Given the description of an element on the screen output the (x, y) to click on. 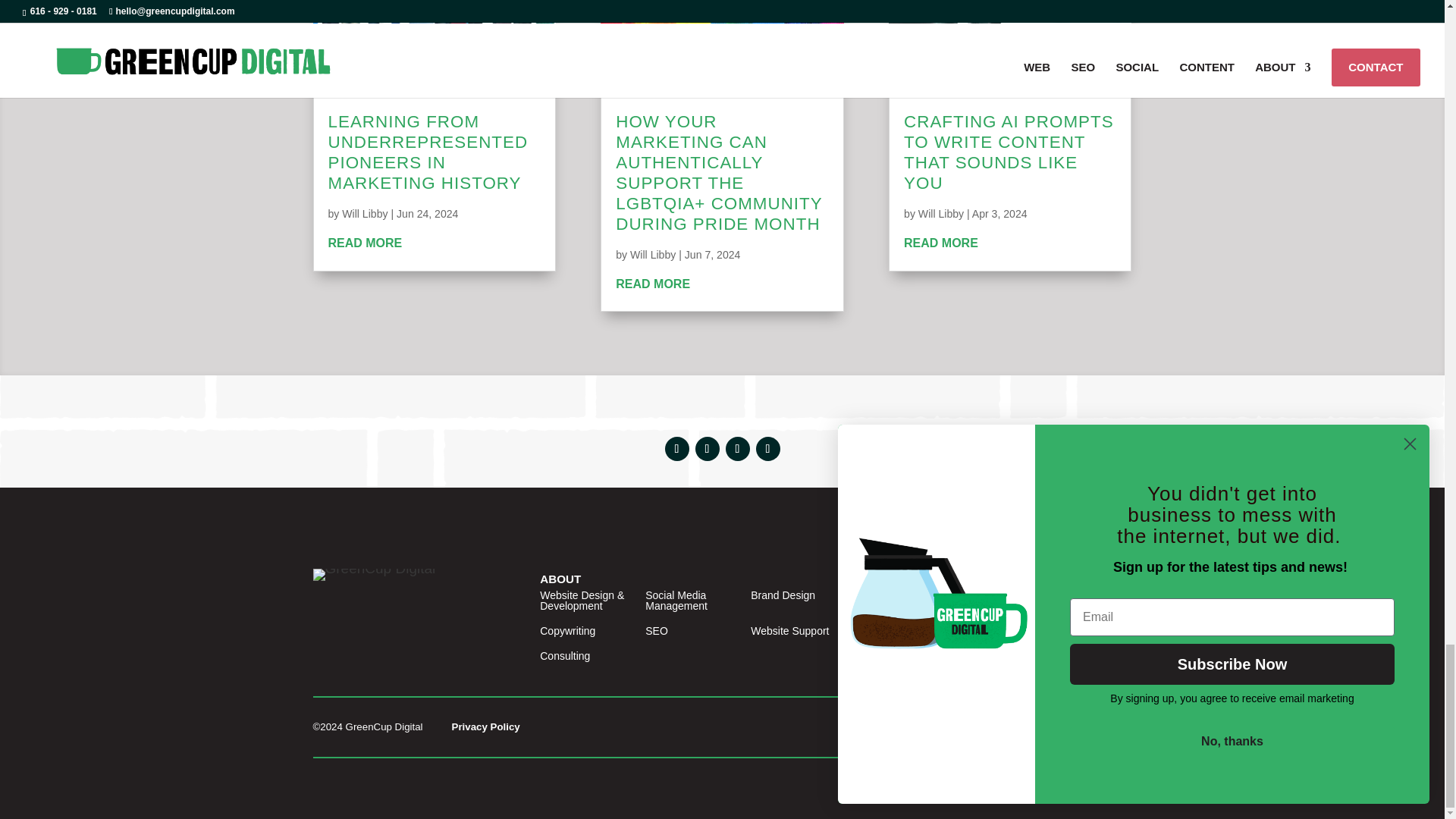
Follow on Instagram (766, 448)
GreenCup Digital Footer Logo (374, 574)
Posts by Will Libby (940, 214)
Follow on X (706, 448)
Follow on Facebook (675, 448)
Posts by Will Libby (652, 254)
Posts by Will Libby (364, 214)
Follow on LinkedIn (737, 448)
Follow on Facebook (1058, 601)
Follow on LinkedIn (1088, 601)
